Given the description of an element on the screen output the (x, y) to click on. 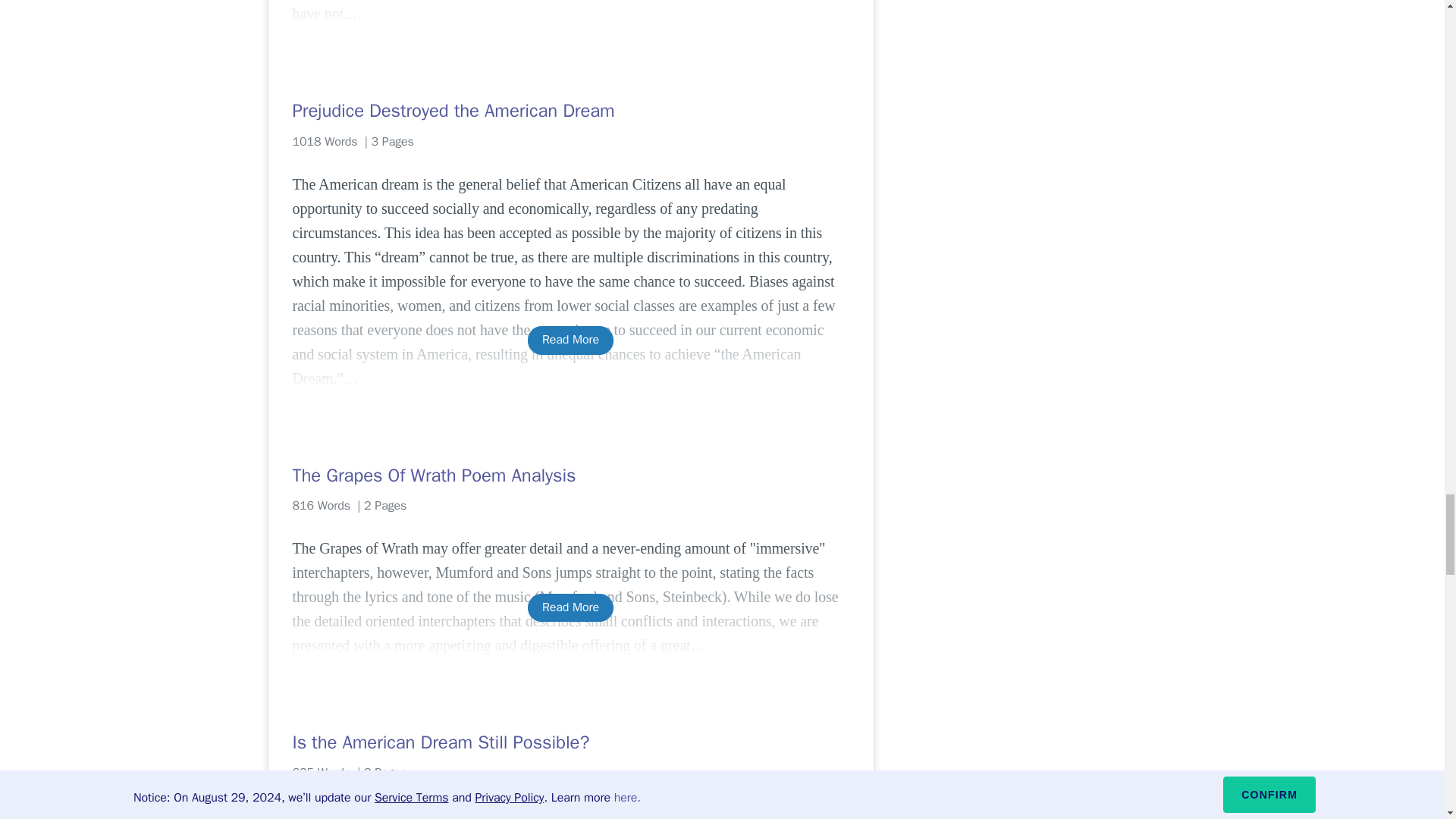
Read More (569, 339)
Prejudice Destroyed the American Dream (570, 110)
The Grapes Of Wrath Poem Analysis (570, 475)
Read More (569, 607)
Is the American Dream Still Possible? (570, 742)
